Given the description of an element on the screen output the (x, y) to click on. 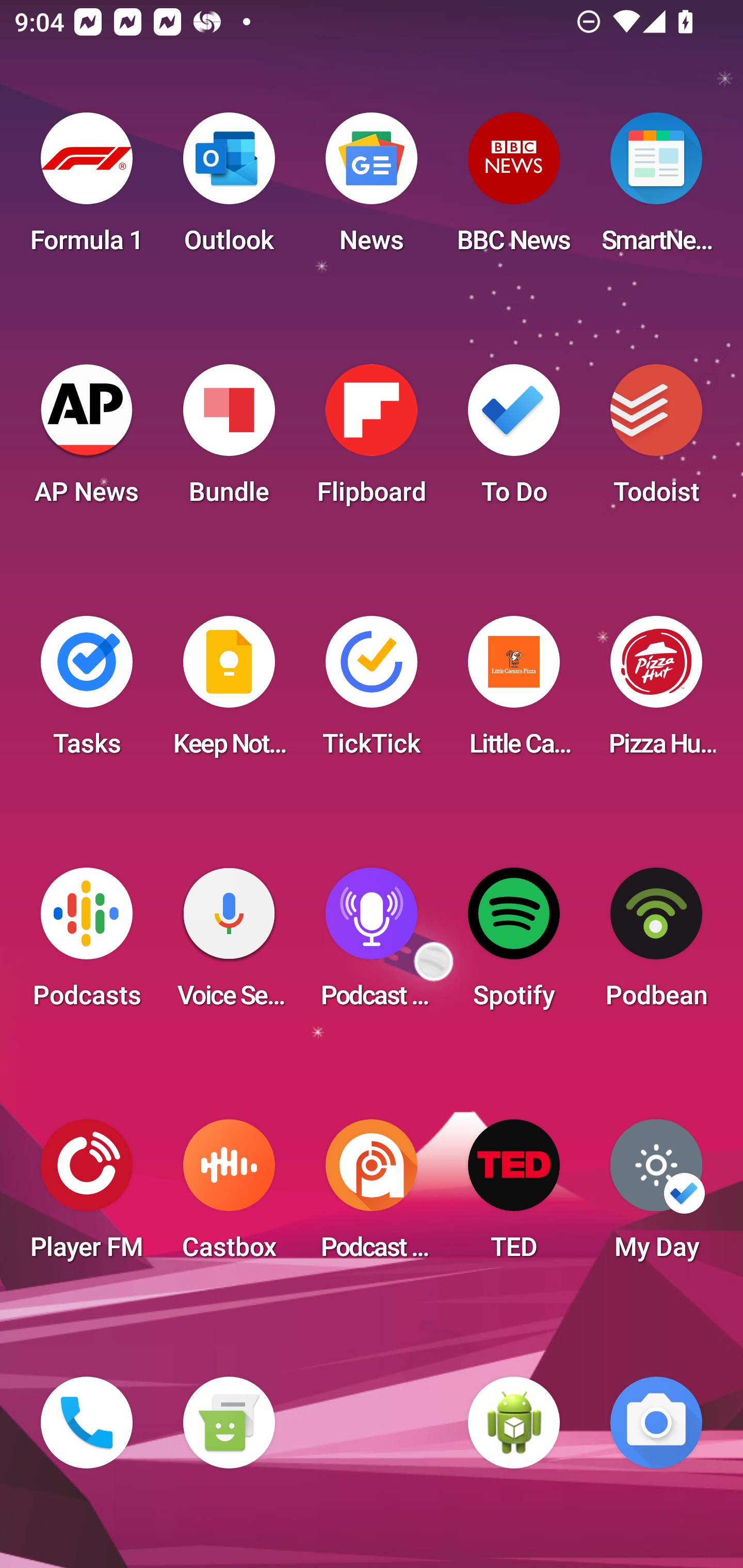
Formula 1 (86, 188)
Outlook (228, 188)
News (371, 188)
BBC News (513, 188)
SmartNews (656, 188)
AP News (86, 440)
Bundle (228, 440)
Flipboard (371, 440)
To Do (513, 440)
Todoist (656, 440)
Tasks (86, 692)
Keep Notes (228, 692)
TickTick (371, 692)
Little Caesars Pizza (513, 692)
Pizza Hut HK & Macau (656, 692)
Podcasts (86, 943)
Voice Search (228, 943)
Podcast Player (371, 943)
Spotify (513, 943)
Podbean (656, 943)
Player FM (86, 1195)
Castbox (228, 1195)
Podcast Addict (371, 1195)
TED (513, 1195)
My Day (656, 1195)
Phone (86, 1422)
Messaging (228, 1422)
WebView Browser Tester (513, 1422)
Camera (656, 1422)
